Given the description of an element on the screen output the (x, y) to click on. 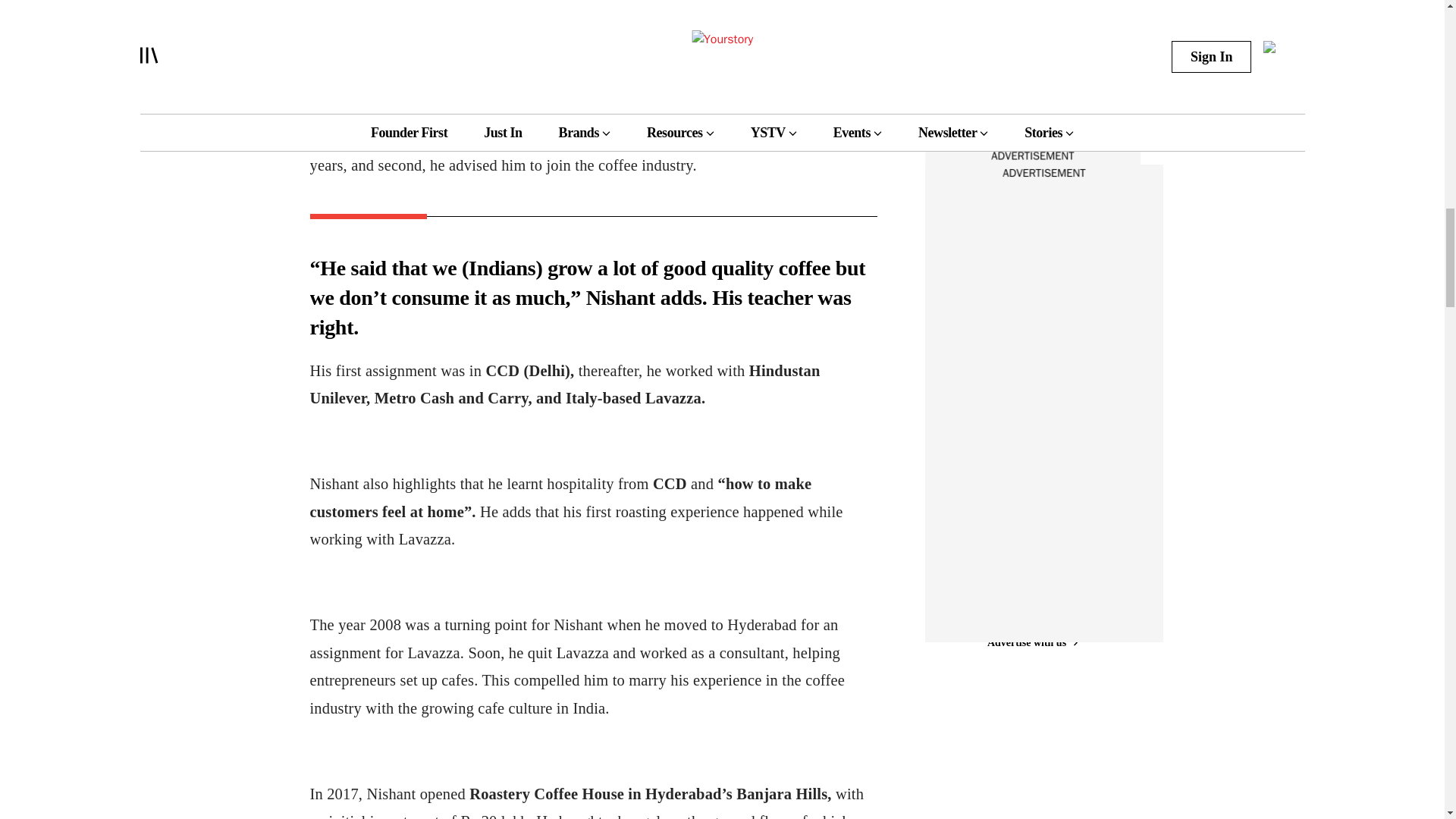
Advertise with us (1032, 155)
STORIES (977, 62)
